Given the description of an element on the screen output the (x, y) to click on. 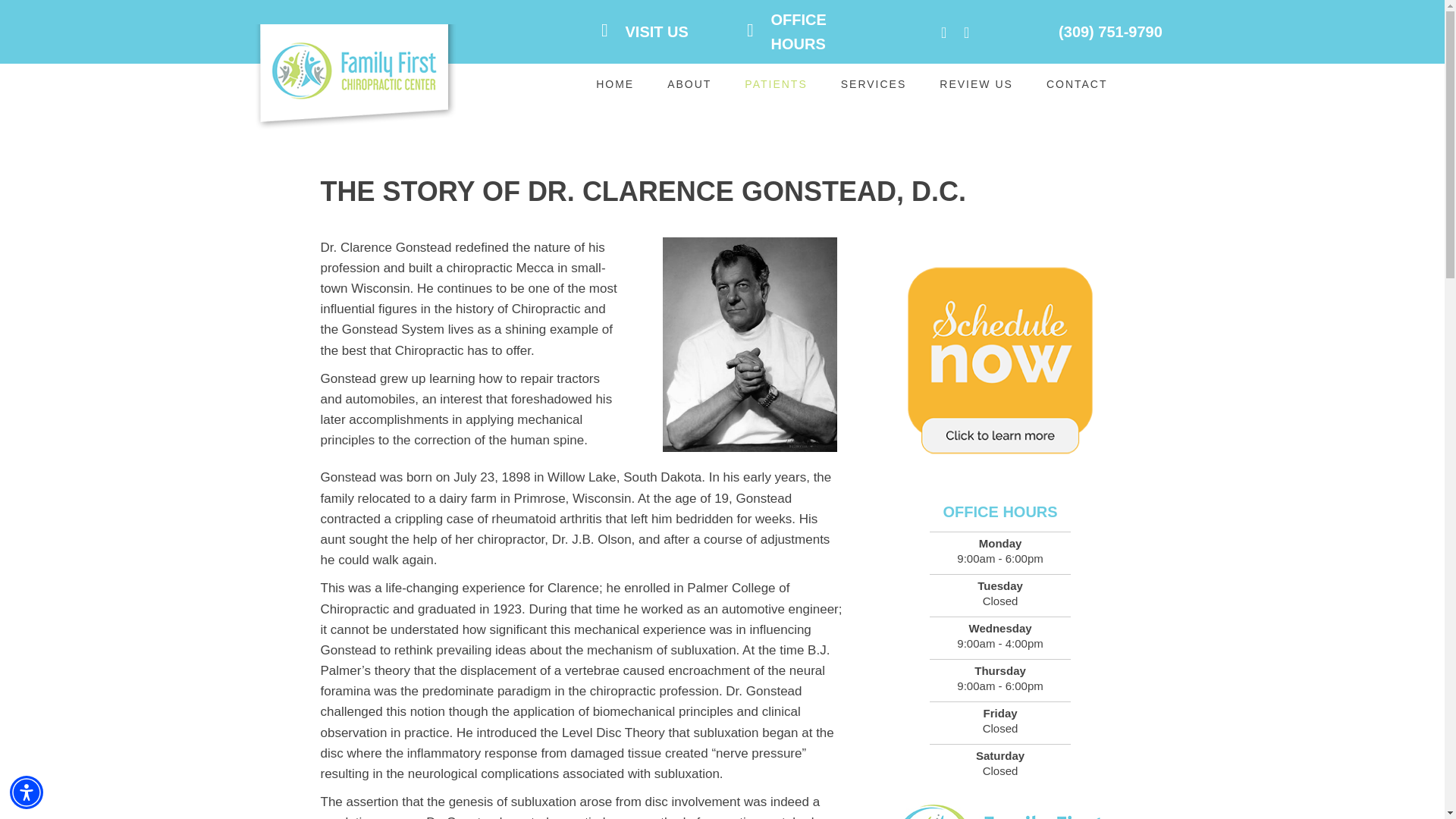
Accessibility Menu (26, 792)
SERVICES (873, 84)
PATIENTS (774, 84)
Request an Appointment (1000, 361)
Chiropractic Hampton IL Family First Chiropractic Center (999, 810)
HOME (615, 84)
ABOUT (689, 84)
Chiropractic Hampton IL Family First Chiropractic Center (354, 81)
